Given the description of an element on the screen output the (x, y) to click on. 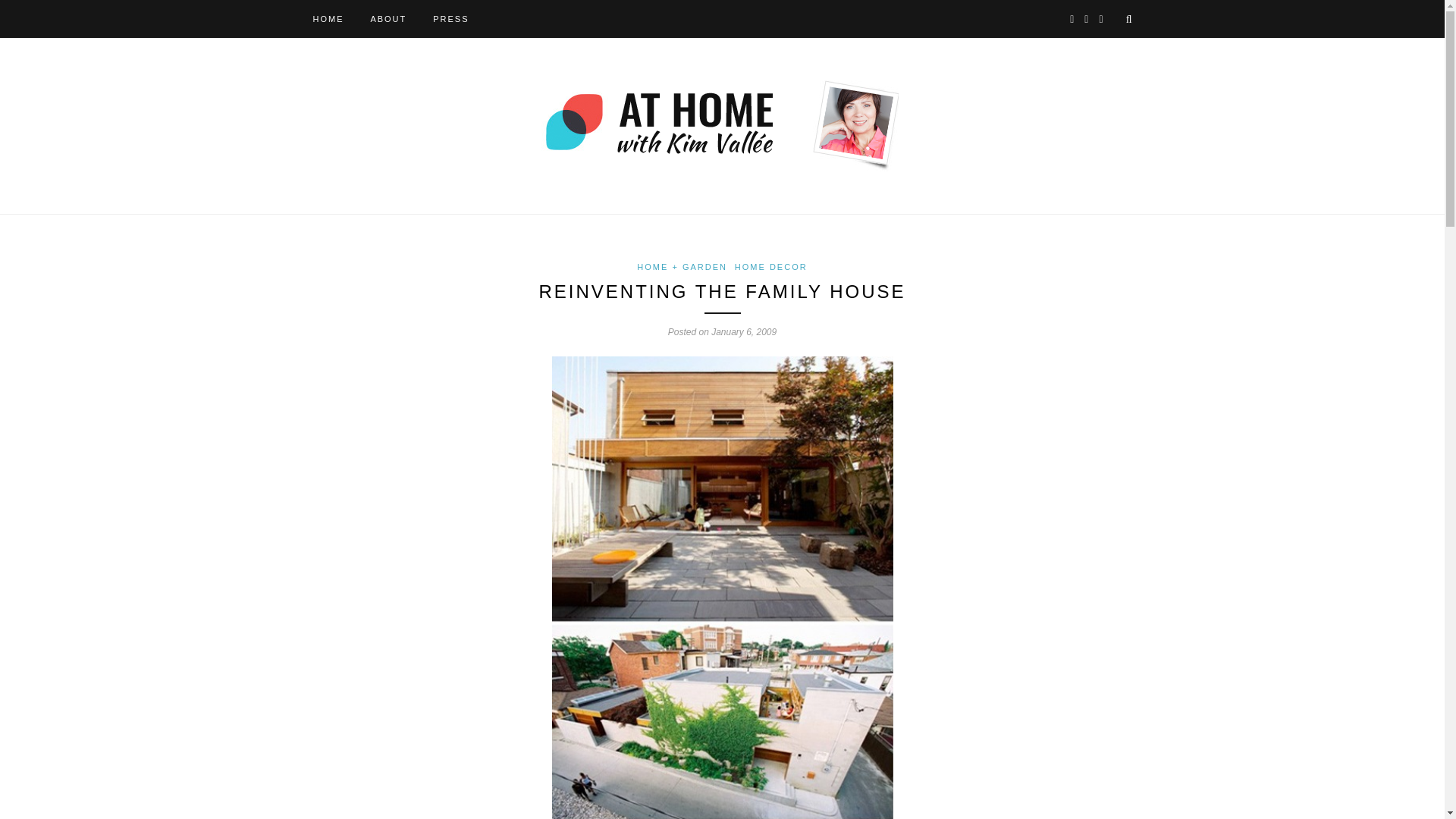
About this family lifestyle blog (387, 18)
ABOUT (387, 18)
PRESS (450, 18)
HOME DECOR (771, 266)
